Given the description of an element on the screen output the (x, y) to click on. 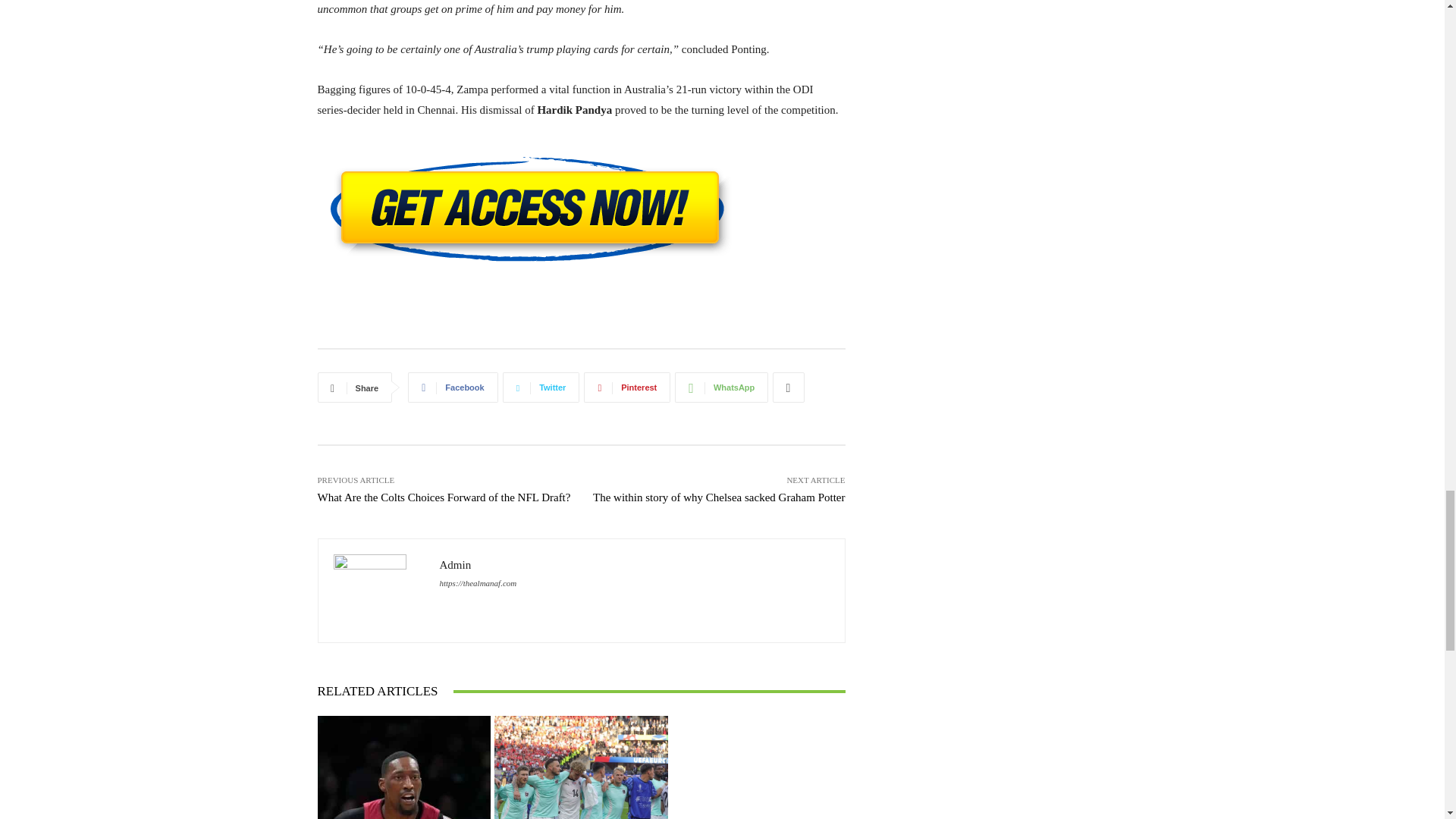
Watch Now Free (580, 211)
